Given the description of an element on the screen output the (x, y) to click on. 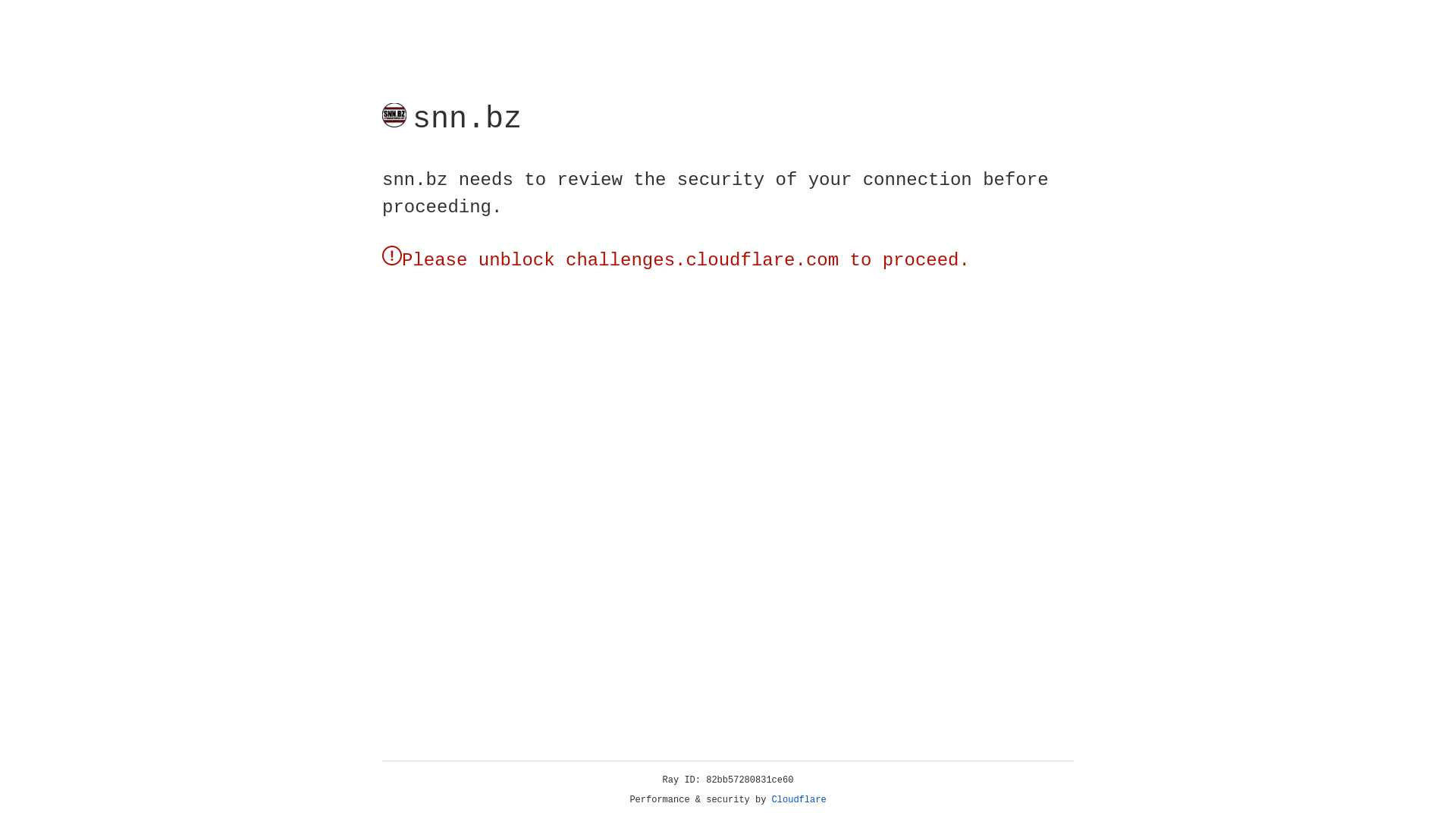
Cloudflare Element type: text (165, 199)
